Given the description of an element on the screen output the (x, y) to click on. 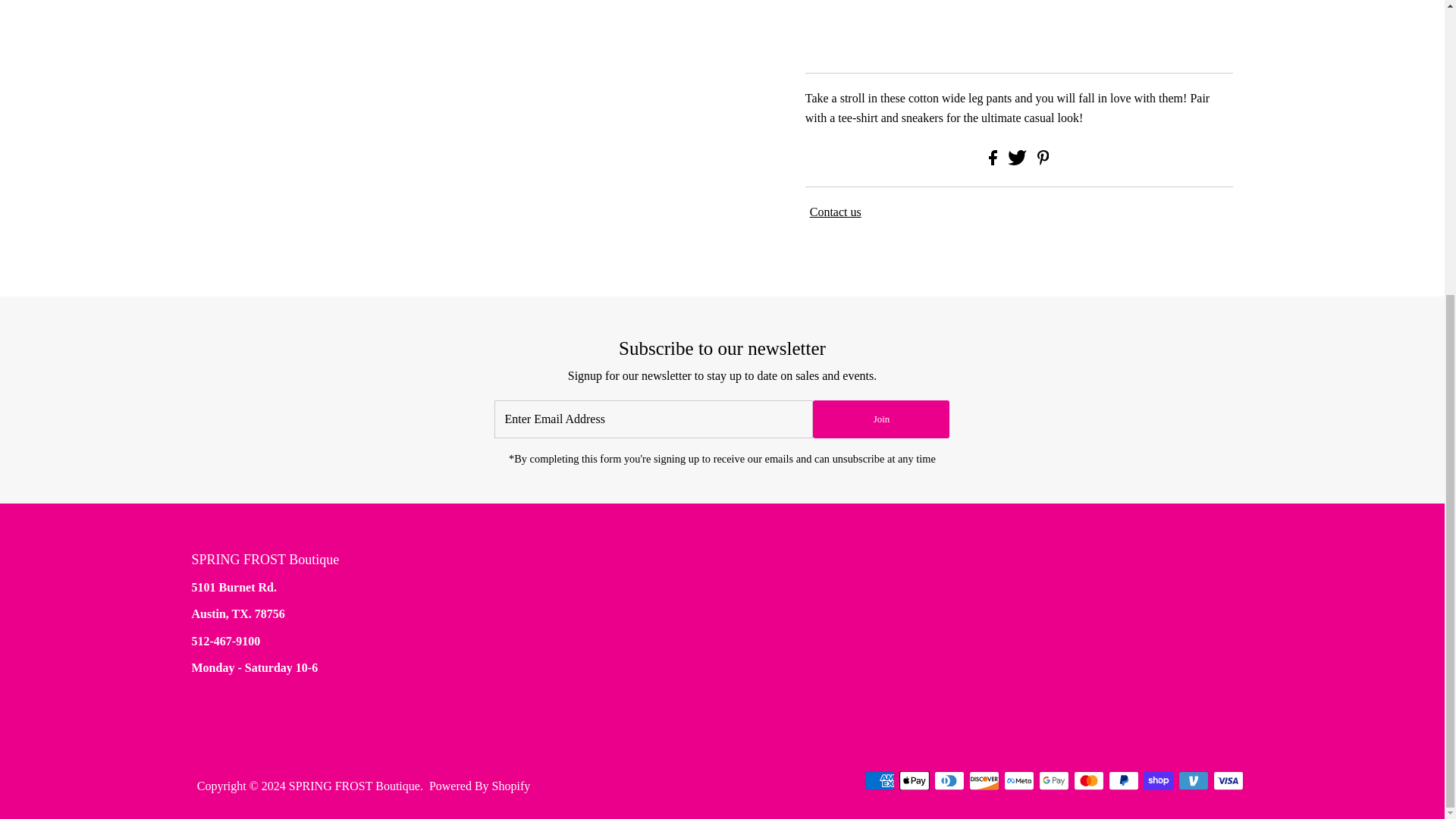
Shop Pay (1157, 780)
Diners Club (948, 780)
Visa (1227, 780)
Discover (983, 780)
PayPal (1123, 780)
Venmo (1192, 780)
Apple Pay (914, 780)
Meta Pay (1018, 780)
American Express (879, 780)
Share on Twitter (1018, 160)
